Given the description of an element on the screen output the (x, y) to click on. 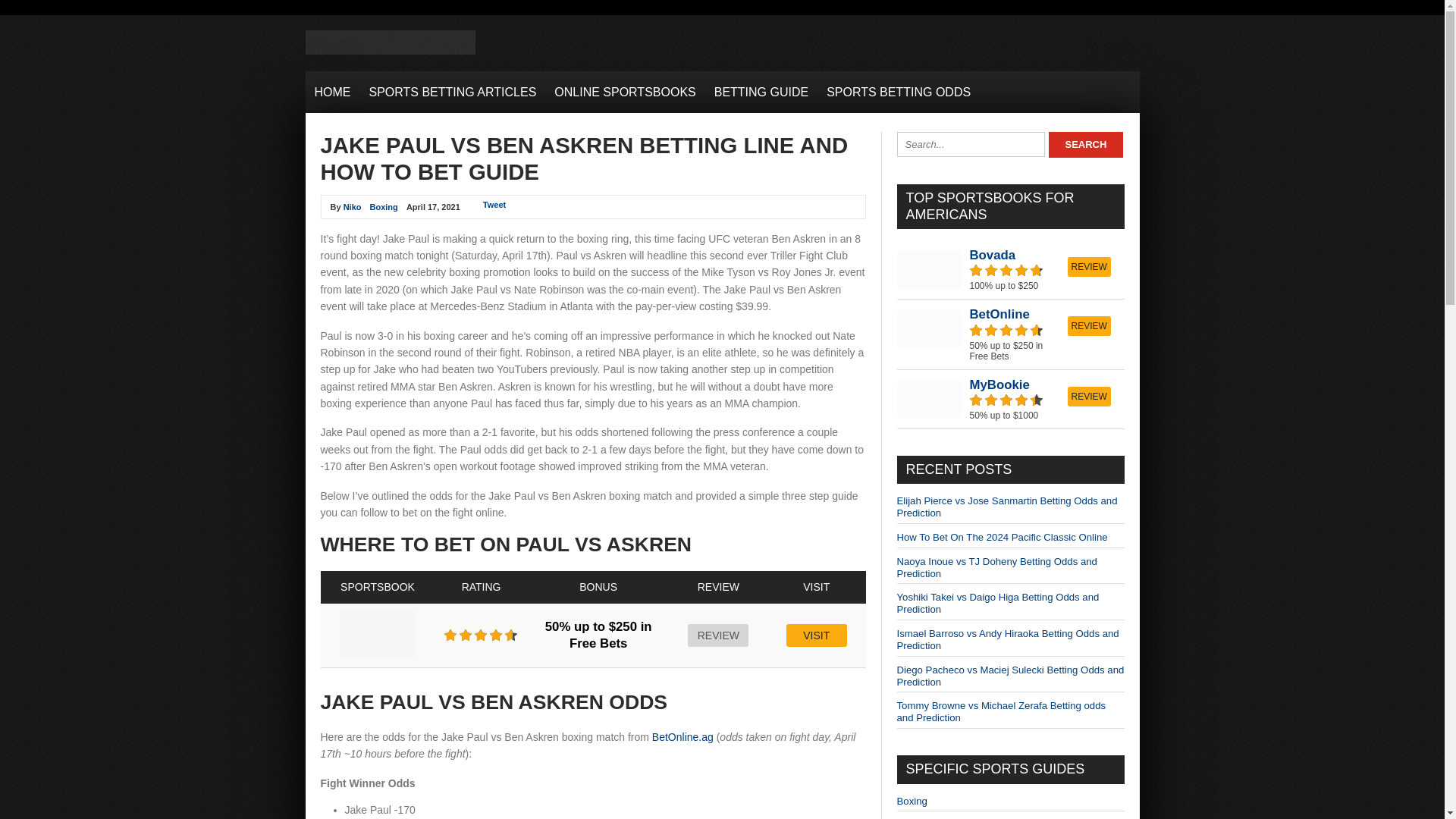
BETTING GUIDE (760, 92)
HOME (331, 92)
Posts by Niko (352, 206)
Search (1085, 144)
Boxing Betting (911, 800)
Tweet (494, 204)
BetOnline.ag (682, 736)
Sports Bet Listings (389, 51)
Boxing (383, 206)
Search (1085, 144)
